Given the description of an element on the screen output the (x, y) to click on. 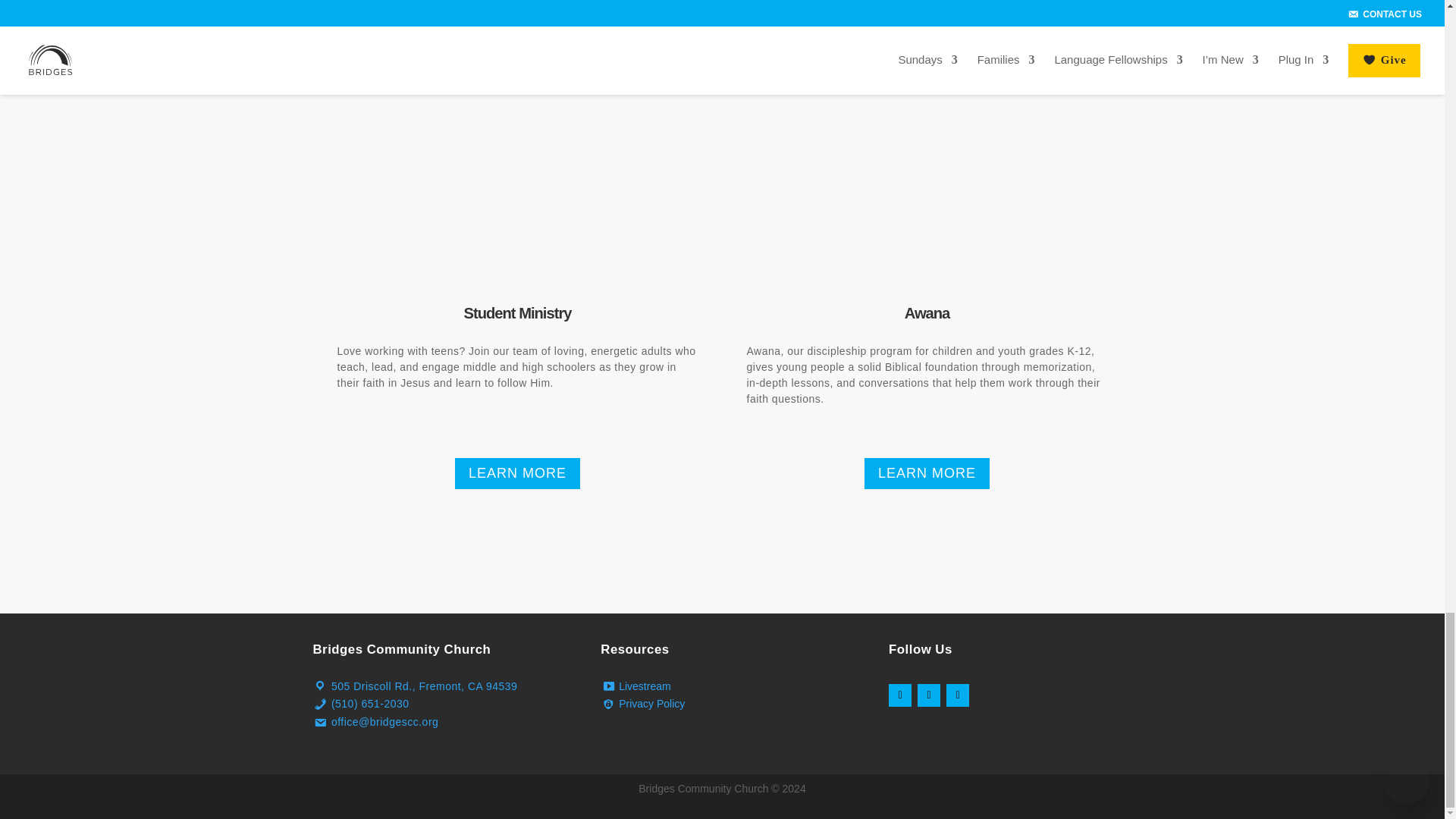
Follow on Vimeo (957, 694)
Follow on Facebook (899, 694)
Follow on Instagram (928, 694)
